Given the description of an element on the screen output the (x, y) to click on. 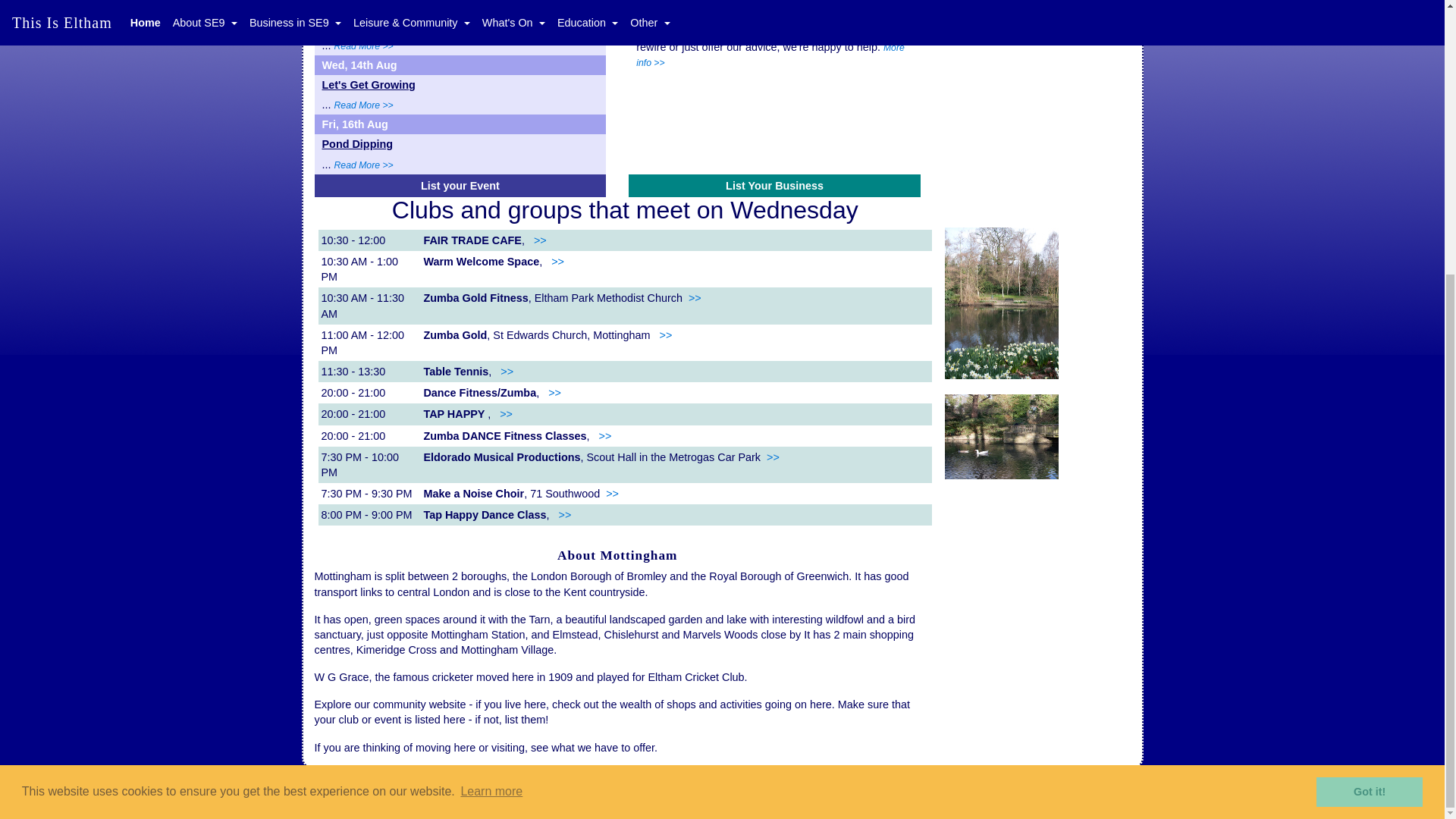
Got it! (1369, 388)
Learn more (491, 387)
